Given the description of an element on the screen output the (x, y) to click on. 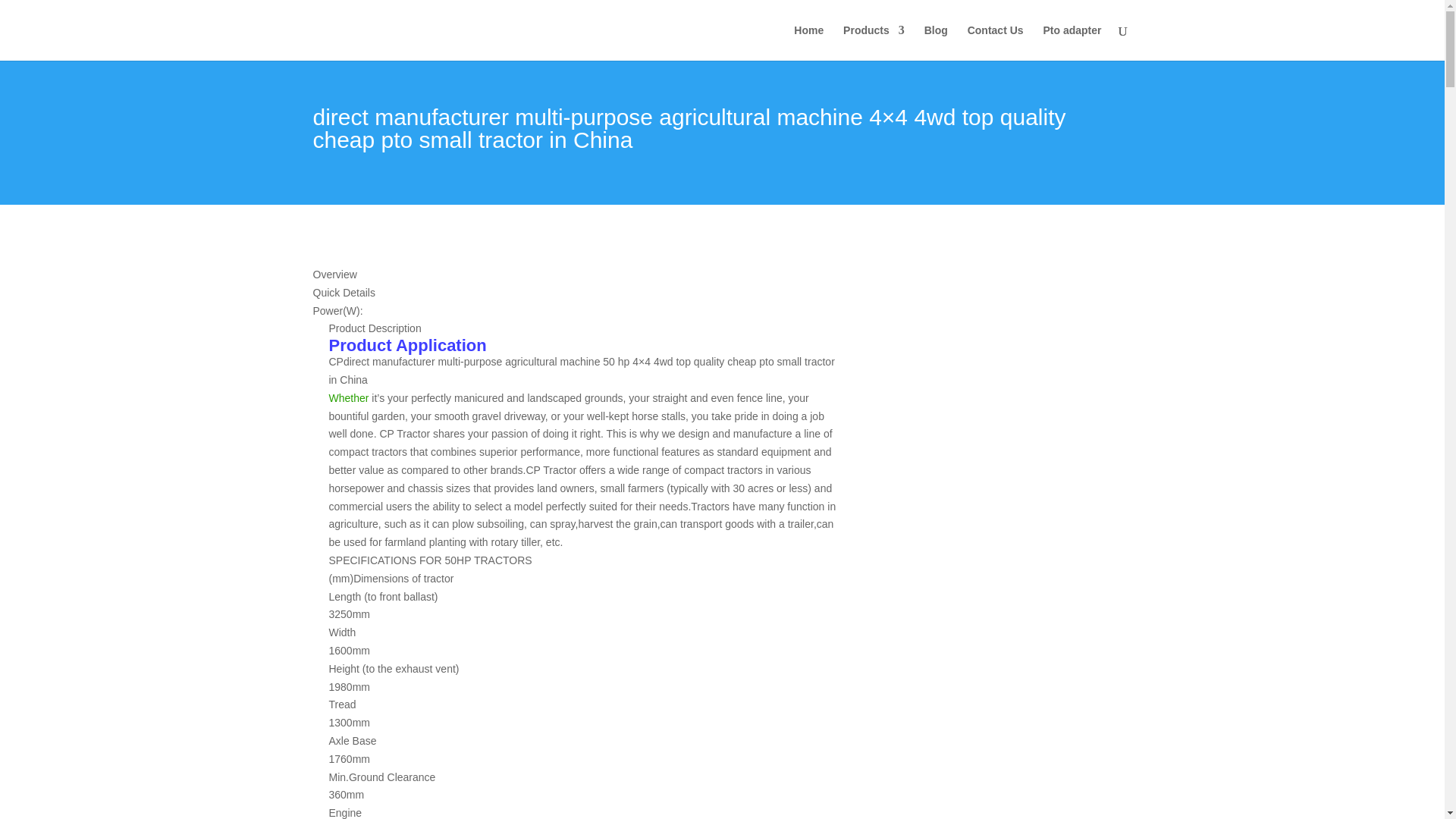
Products (873, 42)
Pto adapter (1071, 42)
Contact Us (995, 42)
